Given the description of an element on the screen output the (x, y) to click on. 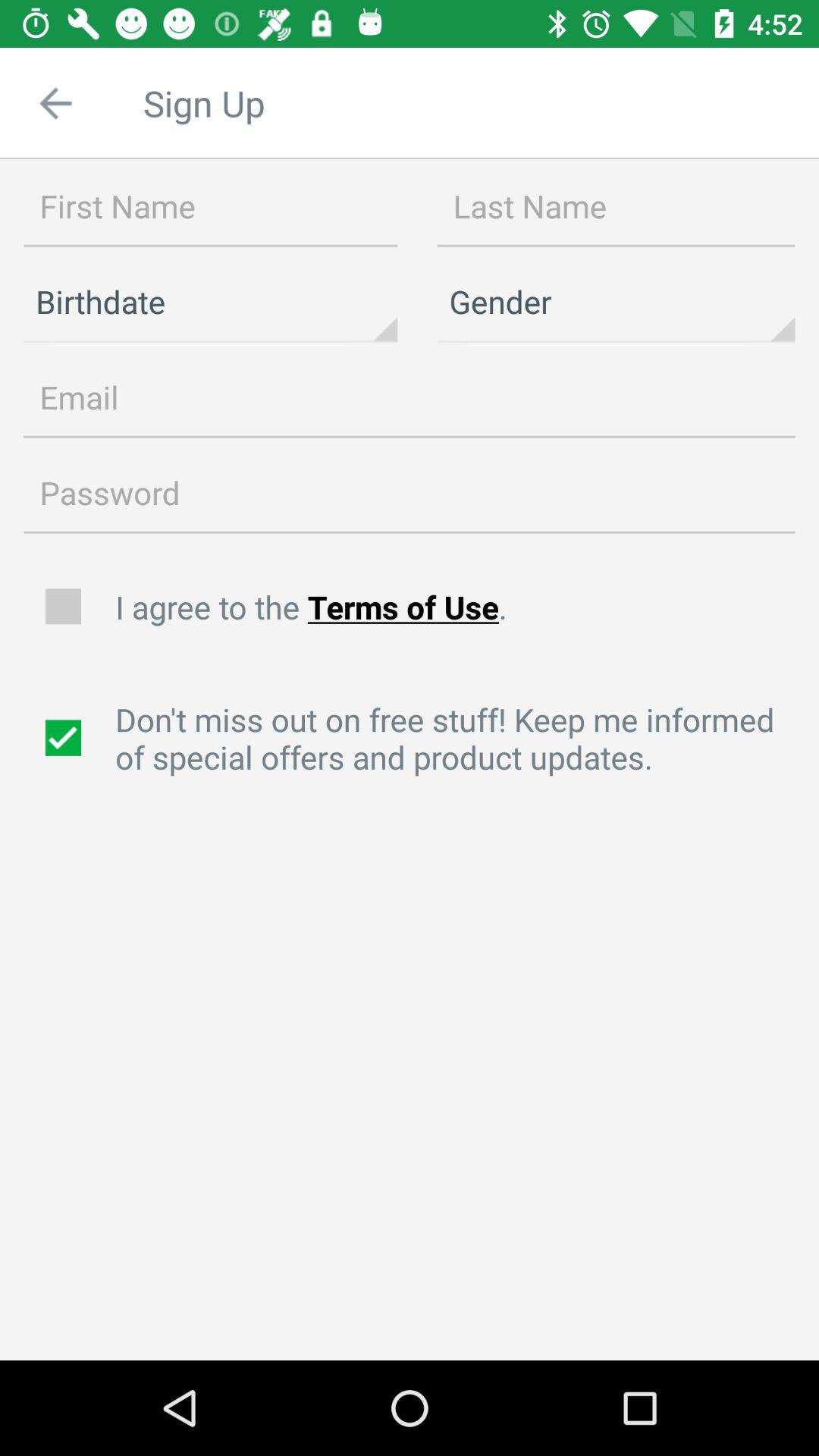
choose the item above don t miss (459, 606)
